Given the description of an element on the screen output the (x, y) to click on. 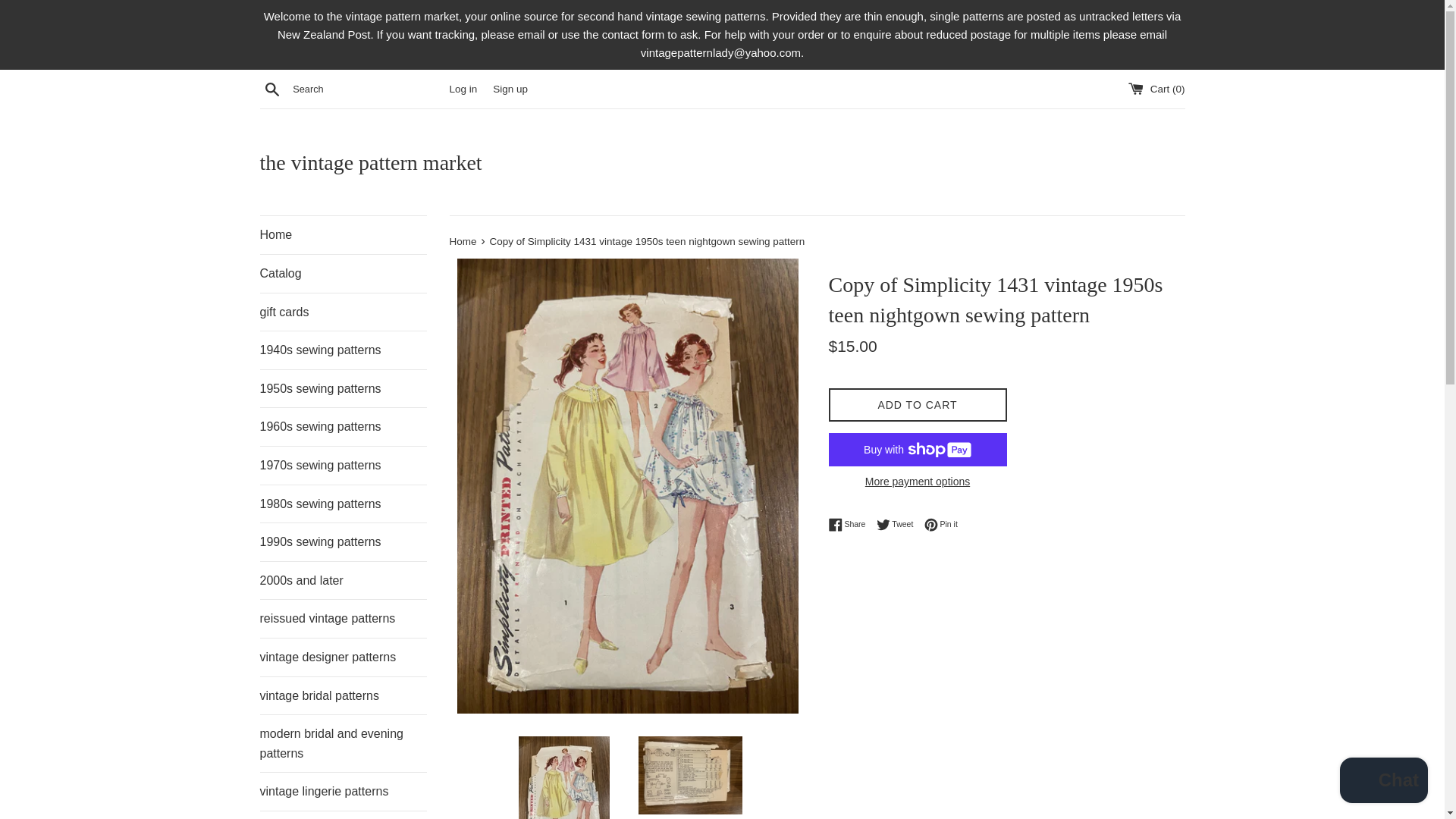
2000s and later (342, 580)
Search (941, 524)
Log in (271, 88)
1960s sewing patterns (462, 89)
1950s sewing patterns (898, 524)
gift cards (342, 426)
vintage designer patterns (342, 388)
vintage men's patterns (342, 312)
